Given the description of an element on the screen output the (x, y) to click on. 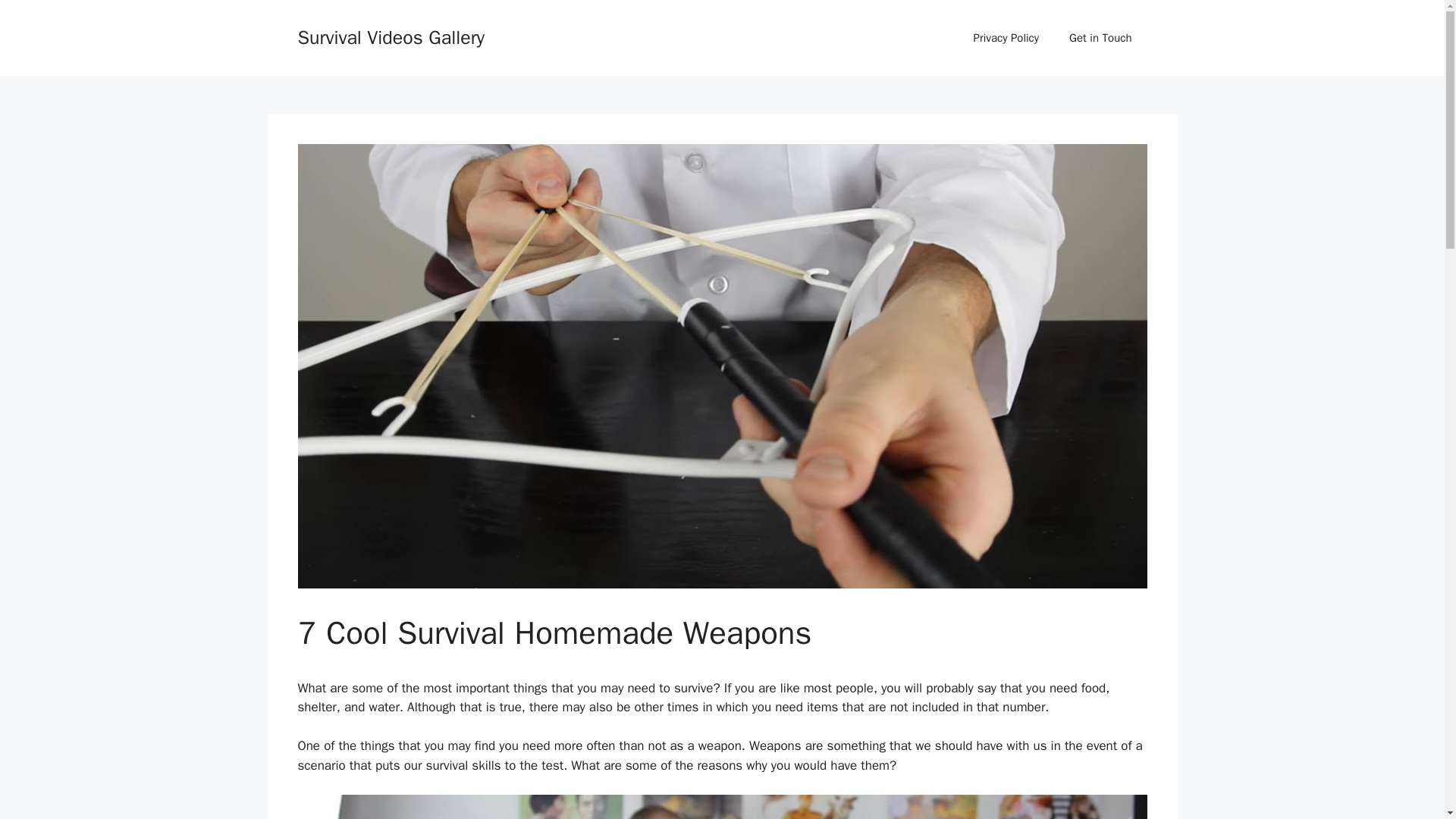
Survival Videos Gallery (390, 37)
Privacy Policy (1006, 37)
Get in Touch (1100, 37)
